Given the description of an element on the screen output the (x, y) to click on. 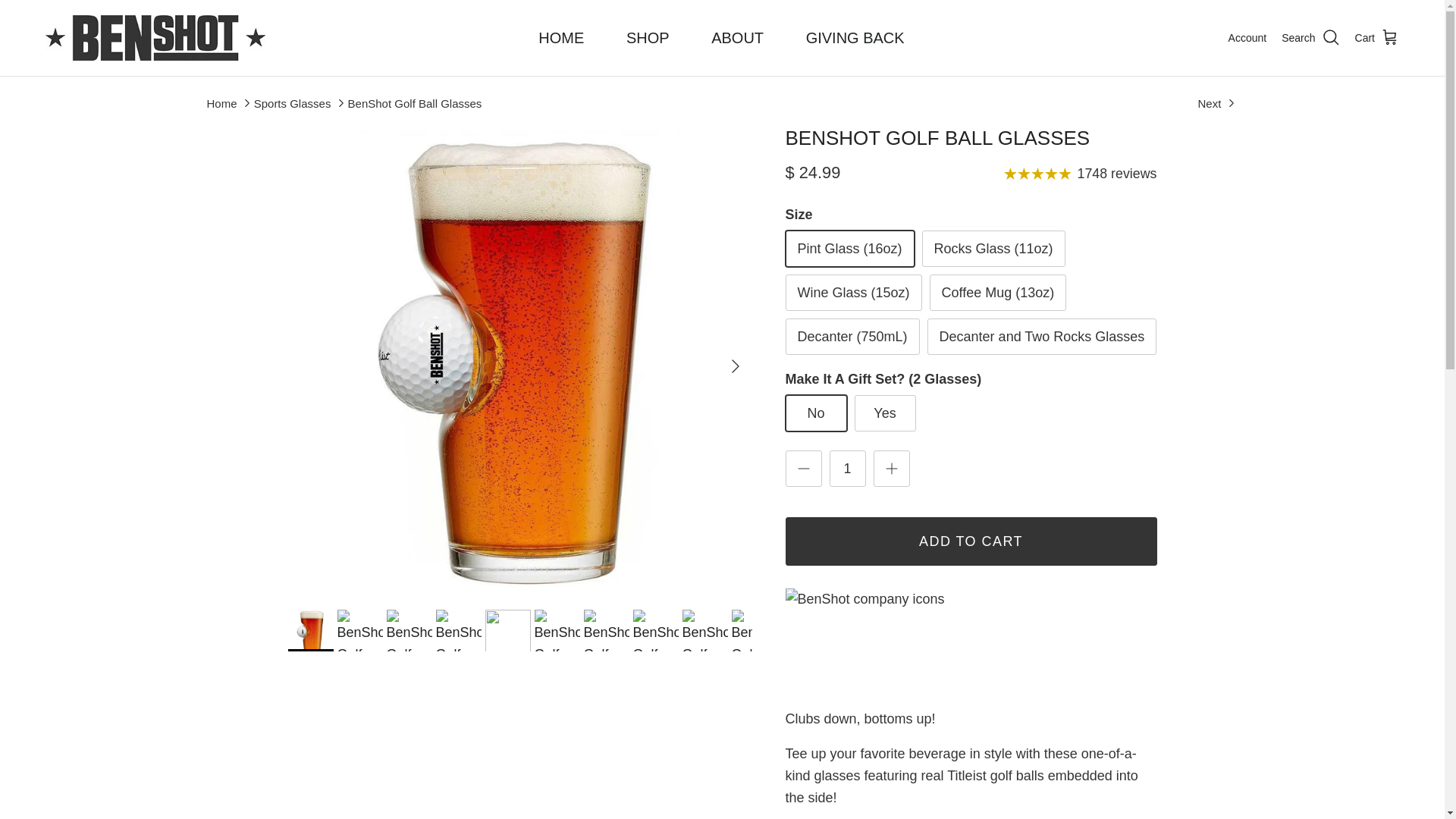
1 (847, 468)
HOME (560, 37)
GIVING BACK (855, 37)
BenShot (154, 37)
Cart (1377, 37)
SHOP (647, 37)
Search (1310, 37)
BenShot Baseball Glasses (1216, 102)
Account (1247, 37)
ABOUT (738, 37)
